Given the description of an element on the screen output the (x, y) to click on. 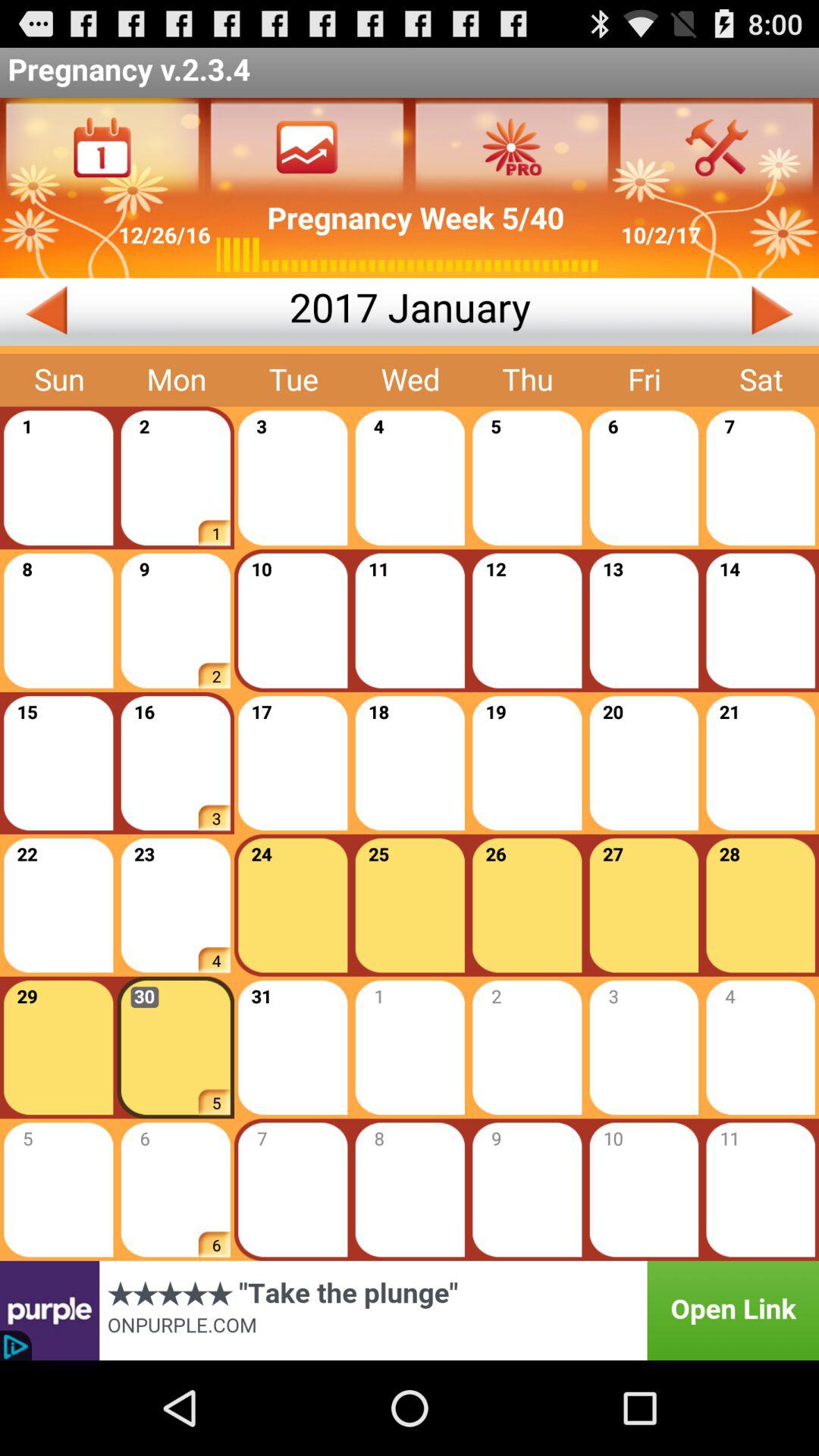
next (674, 311)
